Given the description of an element on the screen output the (x, y) to click on. 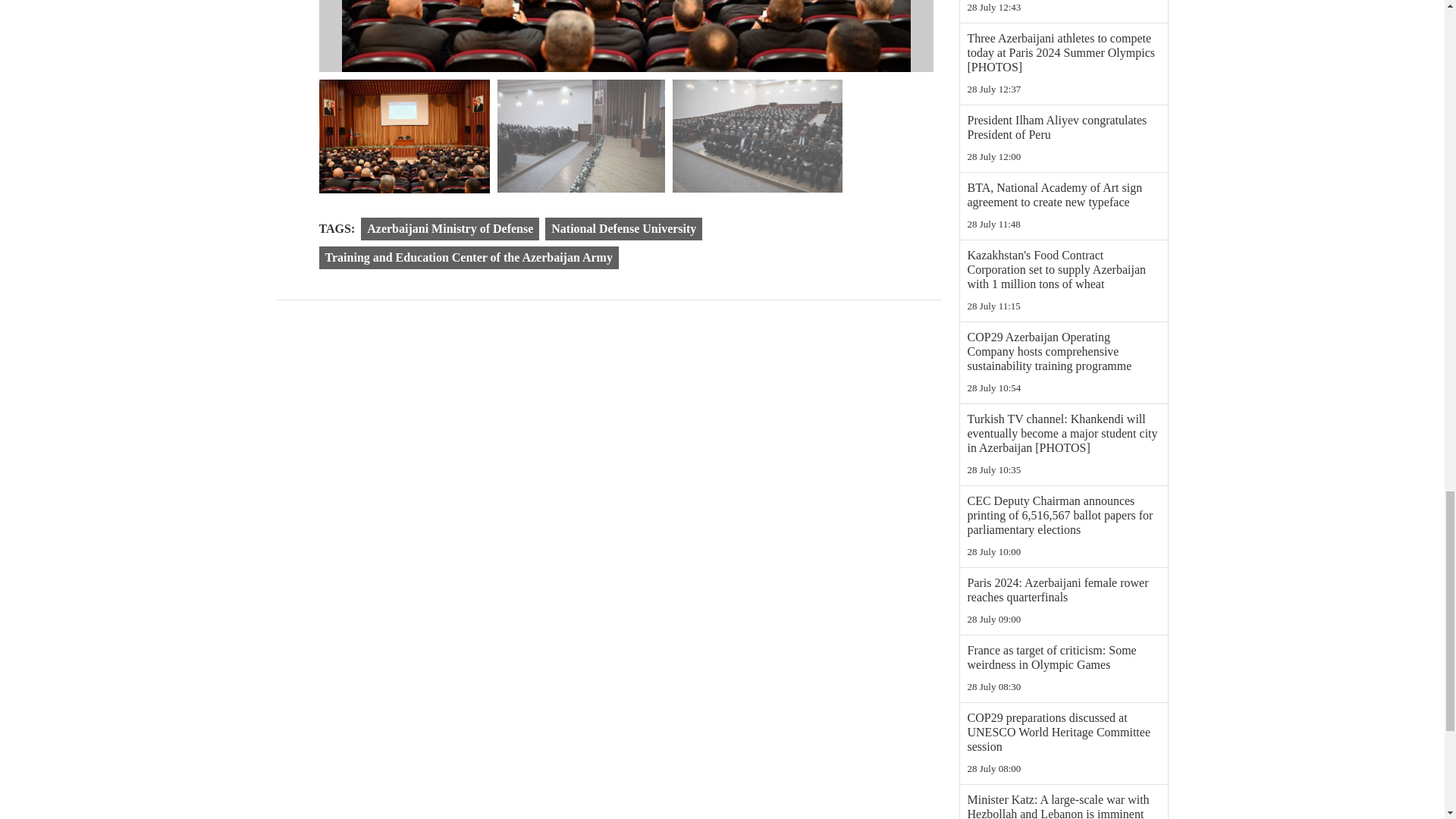
Azerbaijani Ministry of Defense (449, 228)
Training and Education Center of the Azerbaijan Army (467, 257)
National Defense University (622, 228)
